Given the description of an element on the screen output the (x, y) to click on. 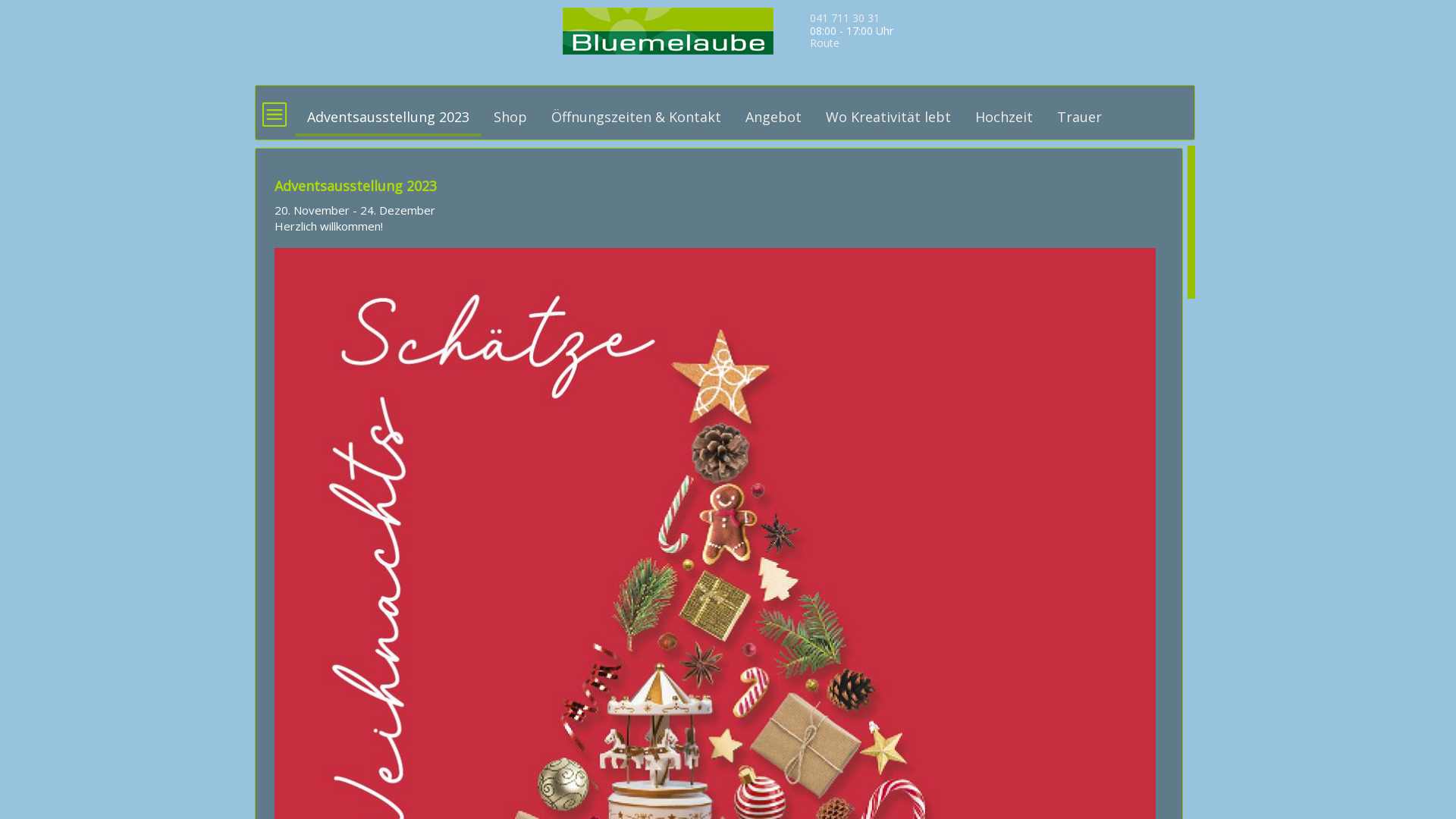
Trauer Element type: text (1078, 109)
041 711 30 31 Element type: text (844, 17)
Angebot Element type: text (773, 109)
Route Element type: text (824, 42)
Hochzeit Element type: text (1003, 109)
Shop Element type: text (510, 109)
Adventsausstellung 2023 Element type: text (387, 109)
